Given the description of an element on the screen output the (x, y) to click on. 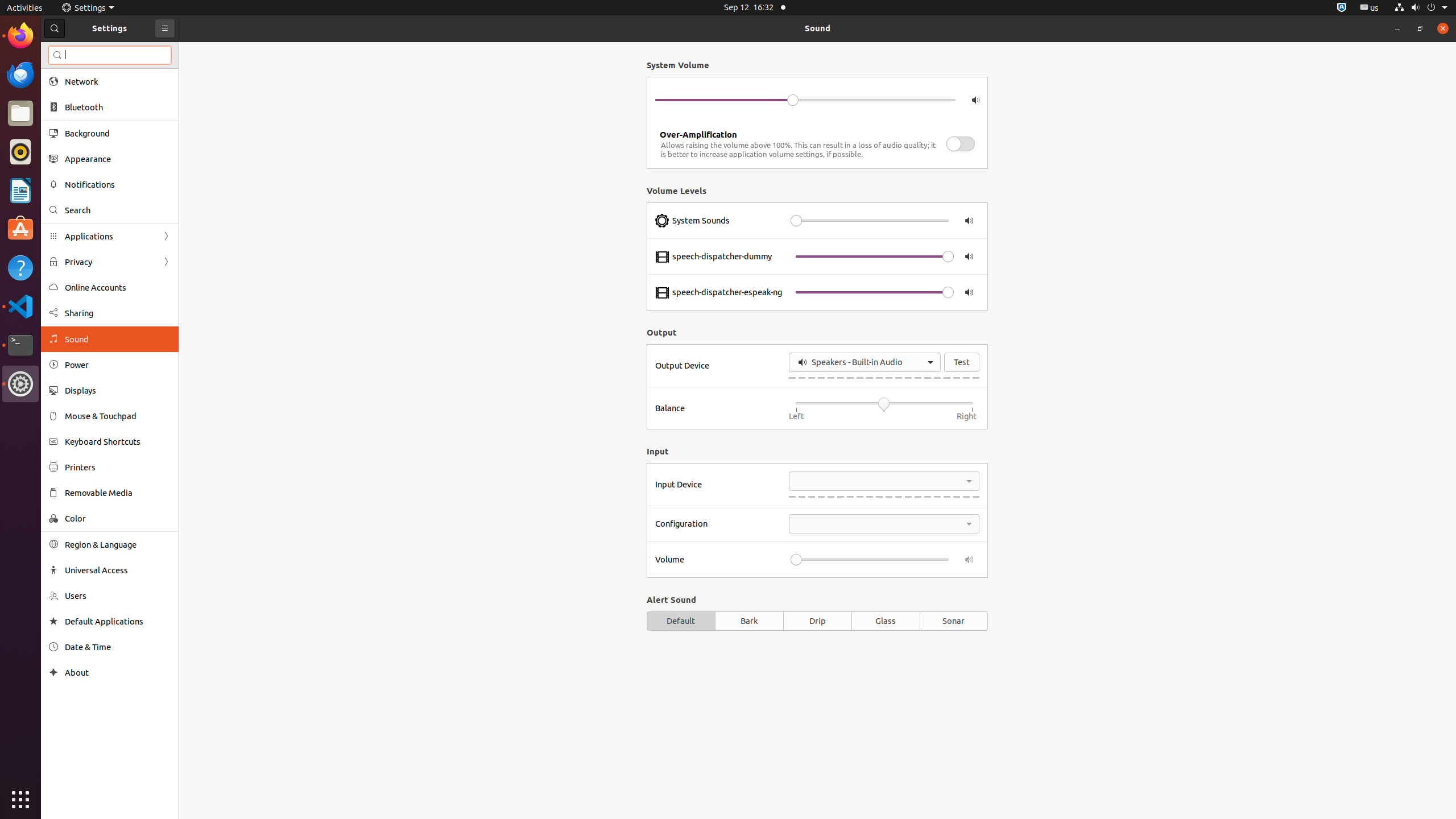
Minimize Element type: push-button (1397, 27)
edit-find-symbolic Element type: icon (56, 54)
Default Element type: toggle-button (680, 620)
Search Element type: text (109, 54)
Primary Menu Element type: toggle-button (164, 28)
